Given the description of an element on the screen output the (x, y) to click on. 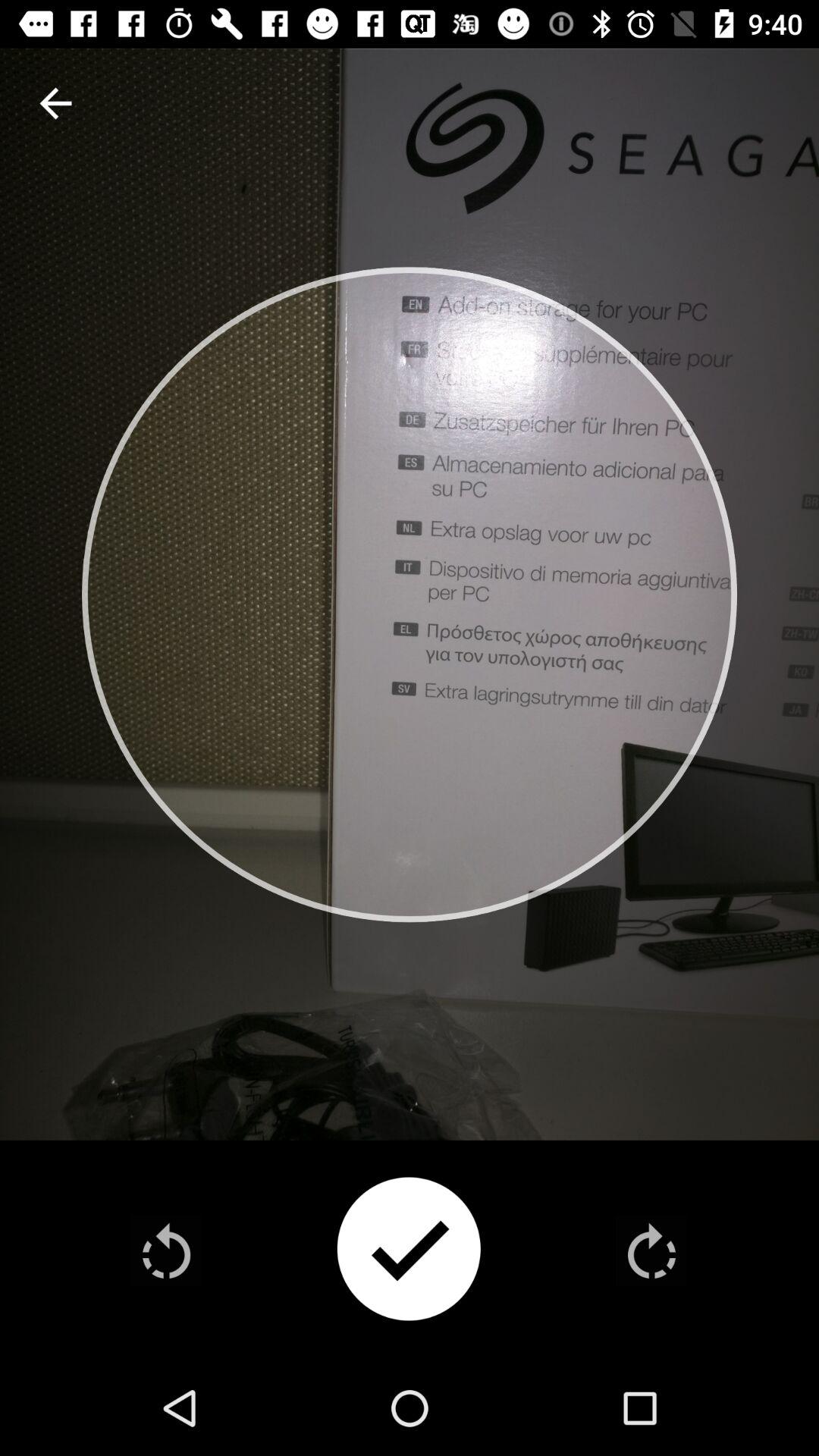
rotate clockwise (651, 1250)
